Given the description of an element on the screen output the (x, y) to click on. 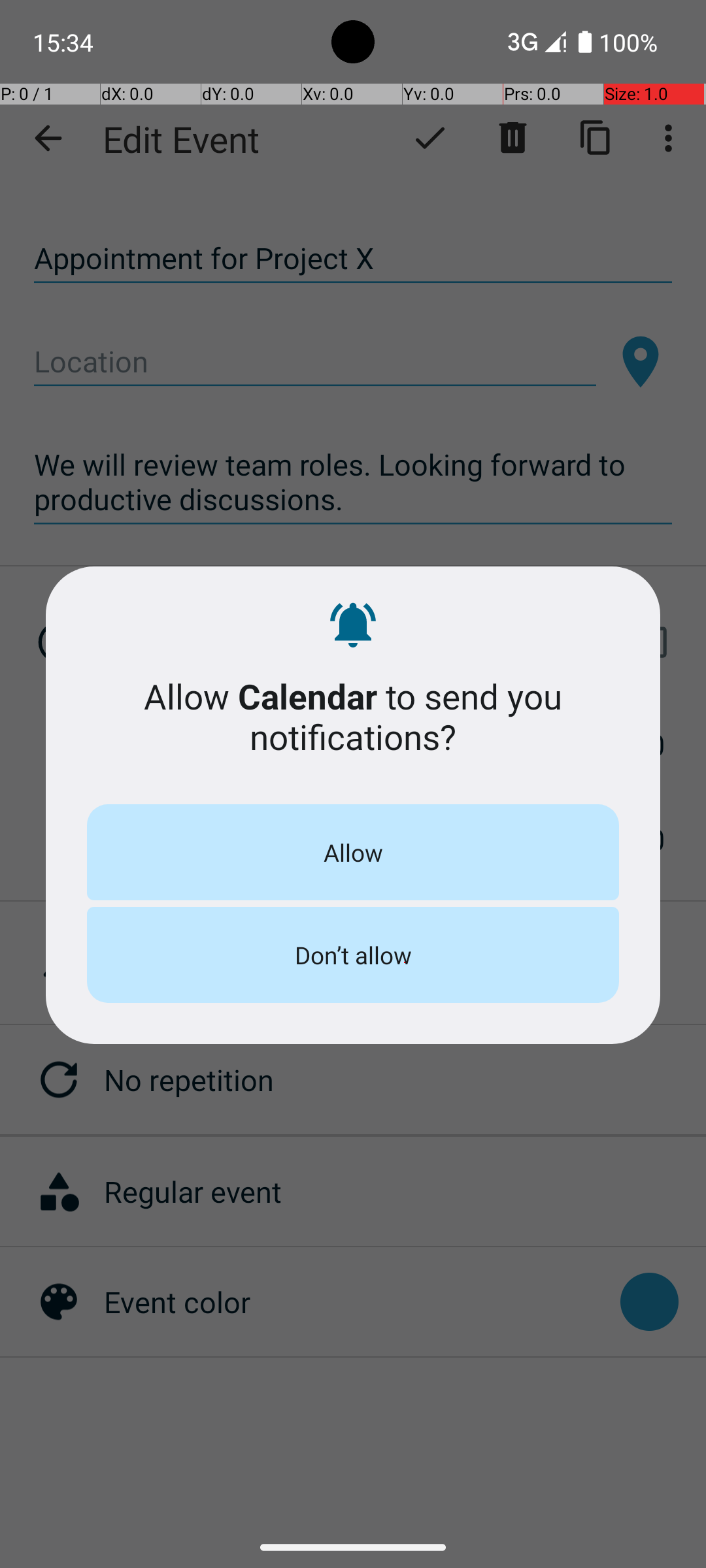
Allow Calendar to send you notifications? Element type: android.widget.TextView (352, 715)
Allow Element type: android.widget.Button (352, 852)
Don’t allow Element type: android.widget.Button (352, 954)
